Given the description of an element on the screen output the (x, y) to click on. 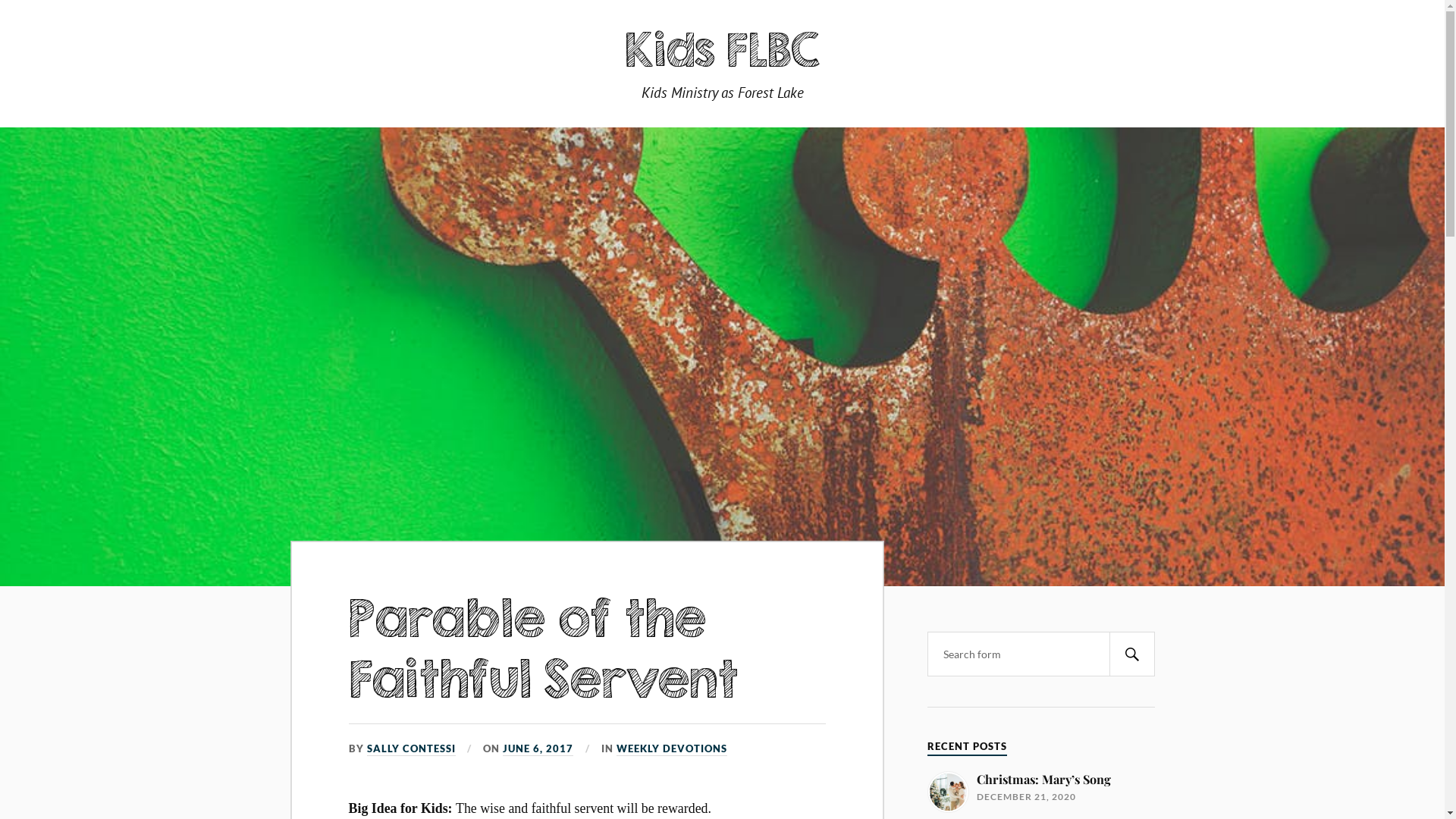
JUNE 6, 2017 Element type: text (537, 749)
WEEKLY DEVOTIONS Element type: text (671, 749)
SALLY CONTESSI Element type: text (411, 749)
Parable of the Faithful Servent Element type: text (543, 647)
Kids FLBC Element type: text (722, 48)
